Given the description of an element on the screen output the (x, y) to click on. 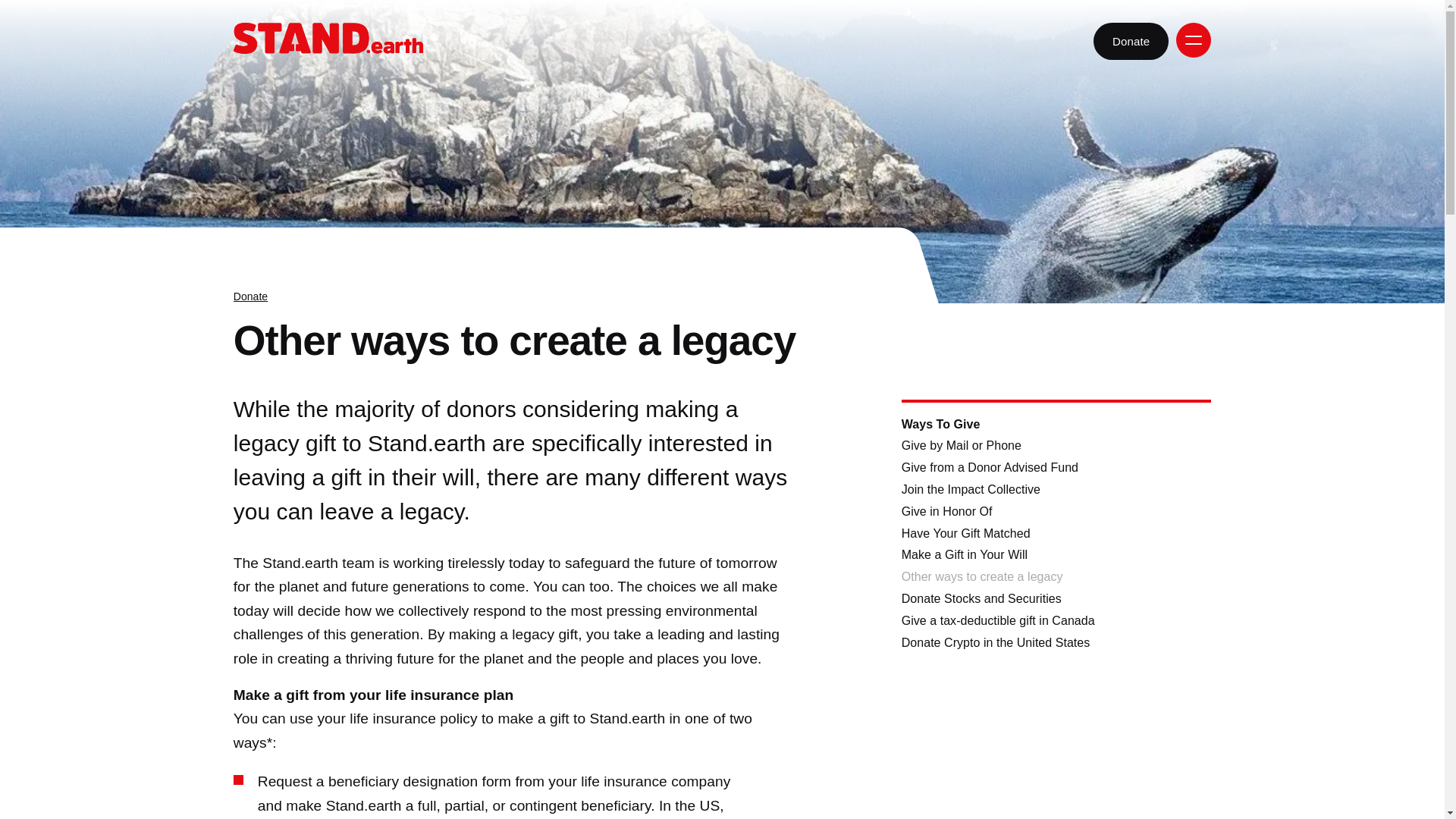
Donate (1131, 40)
